Given the description of an element on the screen output the (x, y) to click on. 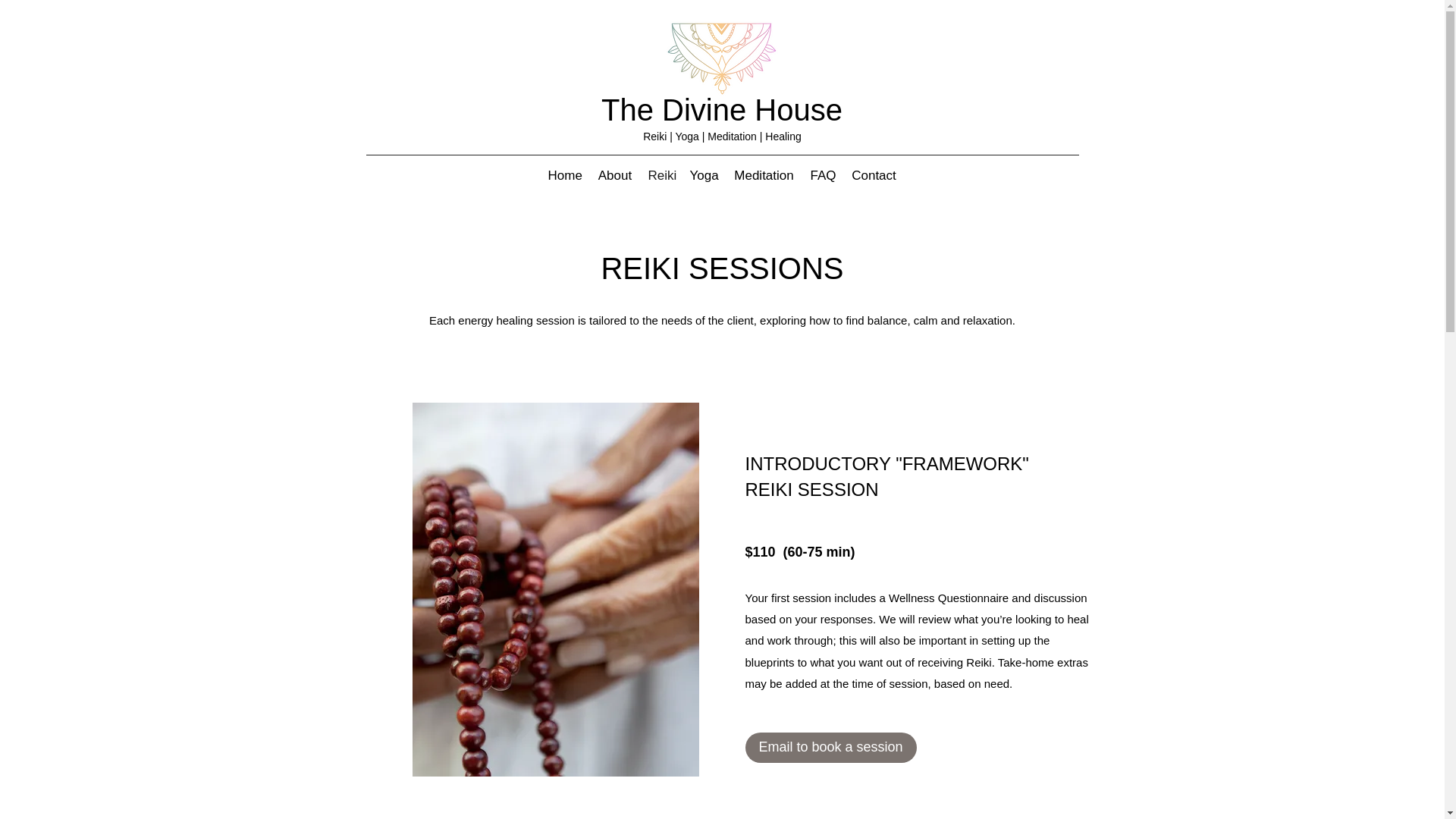
FAQ (822, 175)
Email to book a session (829, 747)
Reiki (660, 175)
The Divine House (722, 109)
Meditation (763, 175)
Home (564, 175)
Contact (873, 175)
Yoga (703, 175)
About (614, 175)
